Given the description of an element on the screen output the (x, y) to click on. 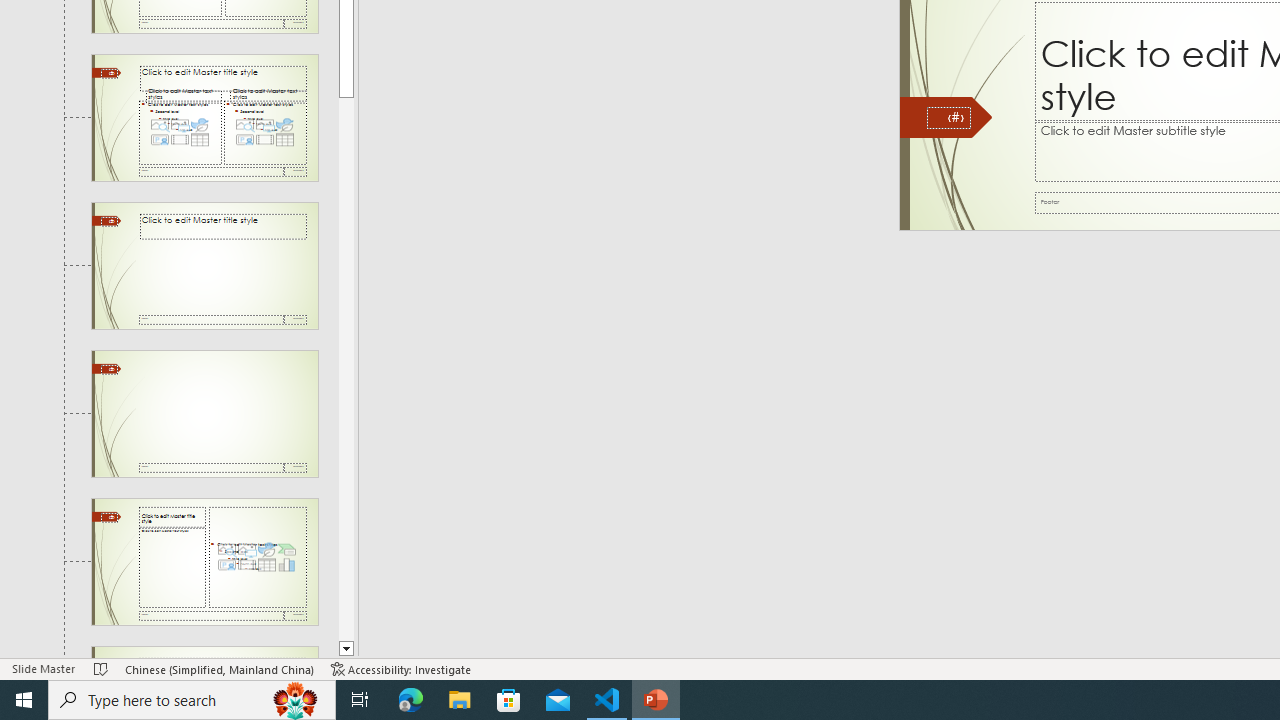
Slide Picture with Caption Layout: used by no slides (204, 652)
Slide Number (948, 117)
Slide Blank Layout: used by no slides (204, 413)
Page down (345, 368)
Slide Comparison Layout: used by no slides (204, 117)
Freeform 6 (945, 117)
Slide Content with Caption Layout: used by no slides (204, 561)
Slide Title Only Layout: used by no slides (204, 266)
